Given the description of an element on the screen output the (x, y) to click on. 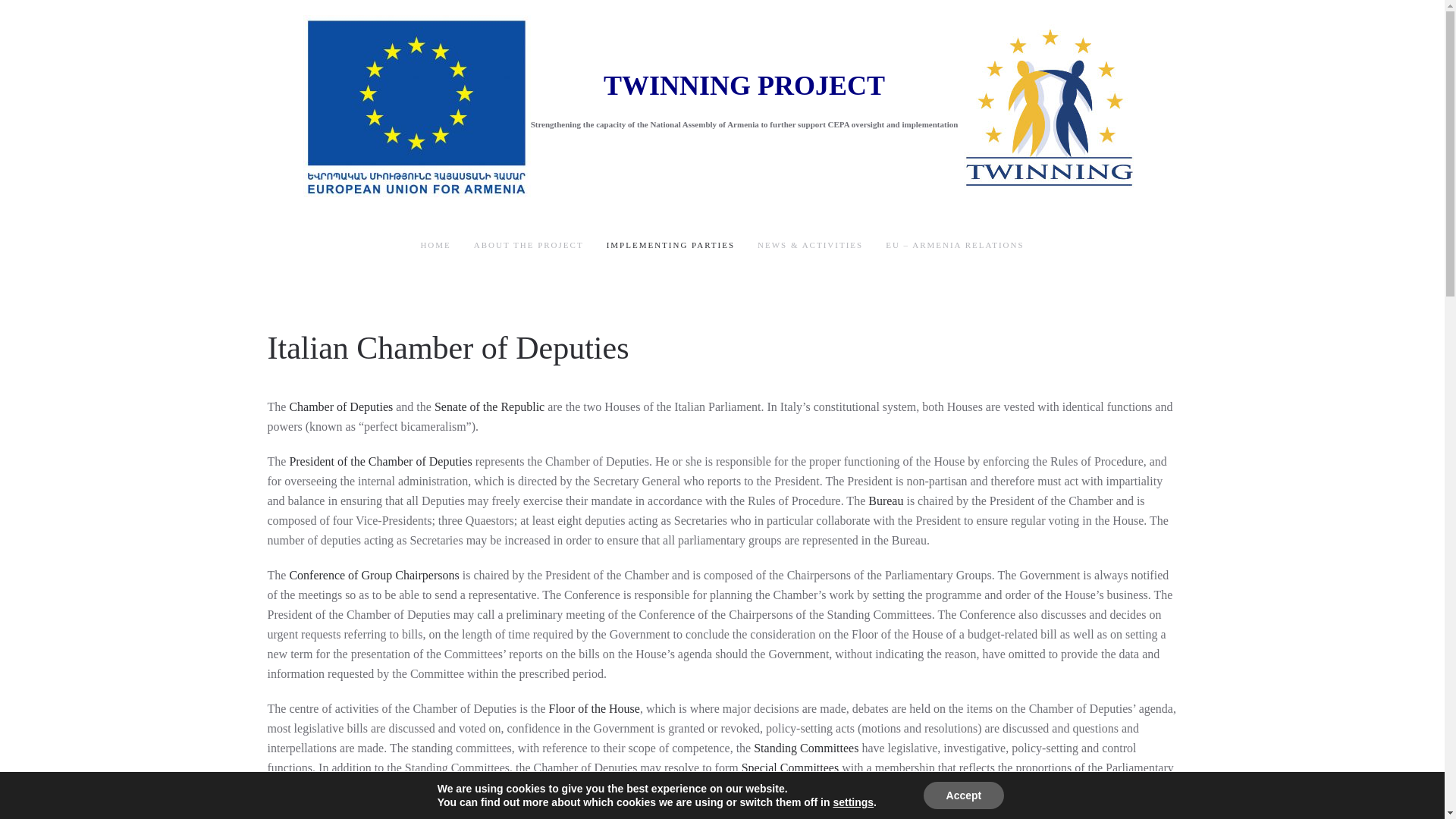
Senate of the Republic (488, 406)
Bureau  (886, 500)
Conference of Group Chairpersons  (374, 574)
Special Committees (789, 767)
Chamber of Deputies (340, 406)
President of the Chamber of Deputies (379, 461)
ABOUT THE PROJECT (529, 245)
IMPLEMENTING PARTIES (670, 245)
Standing Committees (806, 748)
Floor of the House (593, 707)
